Given the description of an element on the screen output the (x, y) to click on. 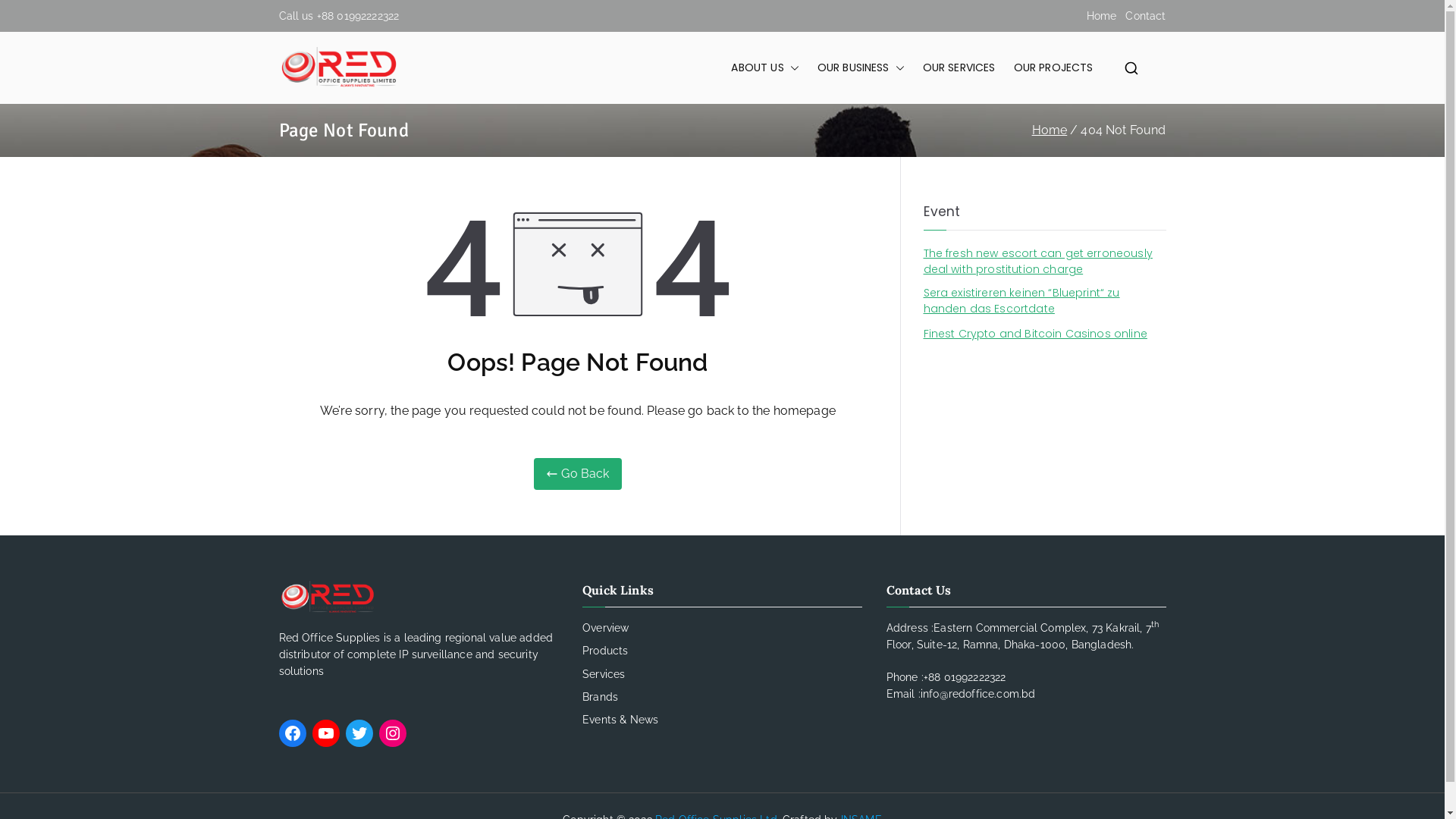
OUR PROJECTS Element type: text (1053, 67)
Search Element type: text (27, 13)
Twitter Element type: text (359, 732)
Facebook Element type: text (292, 732)
Go Back Element type: text (577, 473)
Events & News Element type: text (722, 719)
Instagram Element type: text (392, 732)
Services Element type: text (722, 673)
Home Element type: text (1049, 129)
OUR BUSINESS Element type: text (860, 67)
Products Element type: text (722, 650)
YouTube Element type: text (325, 732)
OUR SERVICES Element type: text (958, 67)
Home Element type: text (1101, 15)
ABOUT US Element type: text (764, 67)
Overview Element type: text (722, 627)
Red Office Supplies Ltd Element type: text (500, 78)
Contact Element type: text (1145, 15)
Brands Element type: text (722, 696)
Finest Crypto and Bitcoin Casinos online Element type: text (1035, 334)
